Given the description of an element on the screen output the (x, y) to click on. 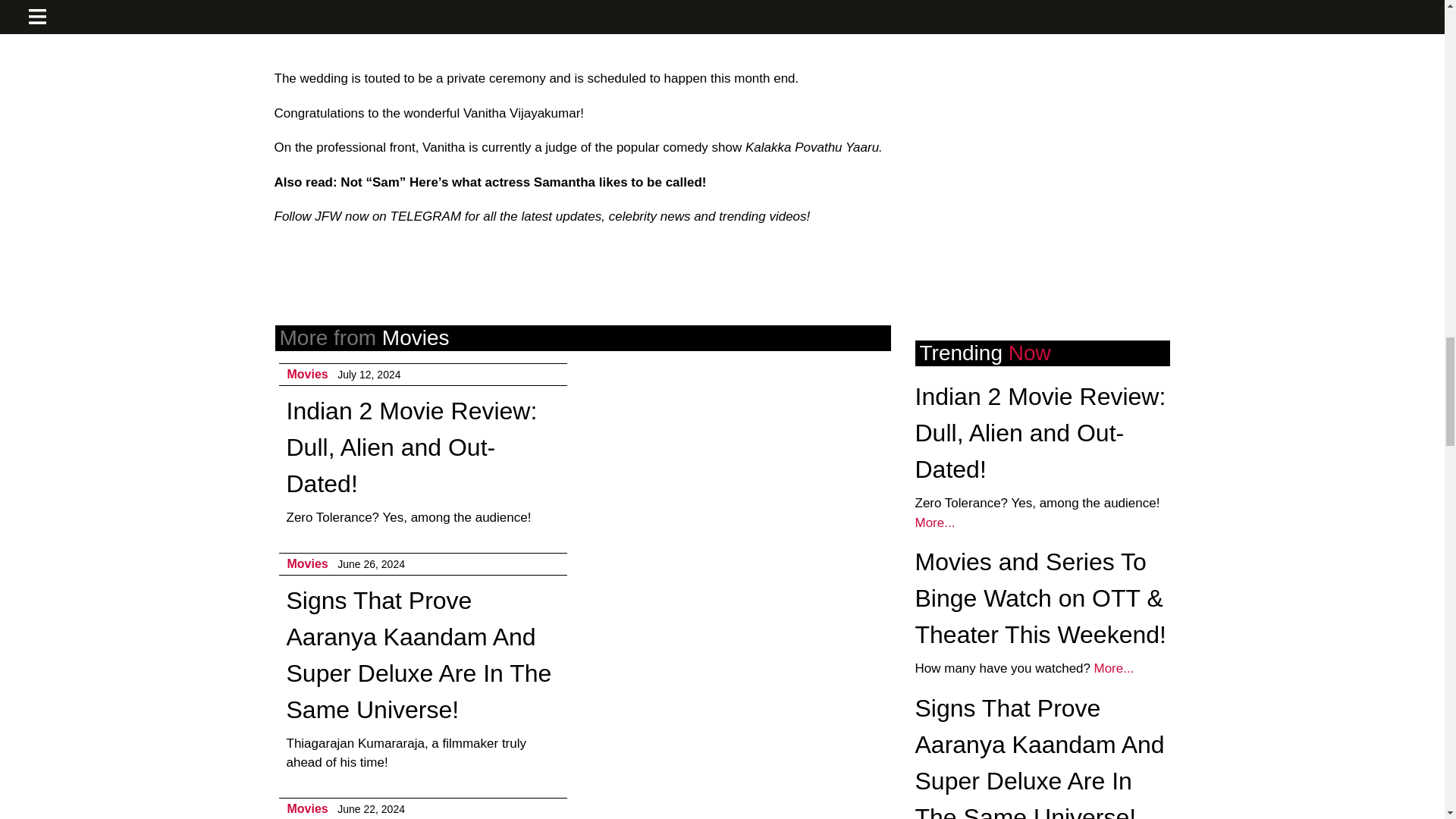
Movies (306, 373)
Movies (306, 808)
Movies (306, 563)
